Given the description of an element on the screen output the (x, y) to click on. 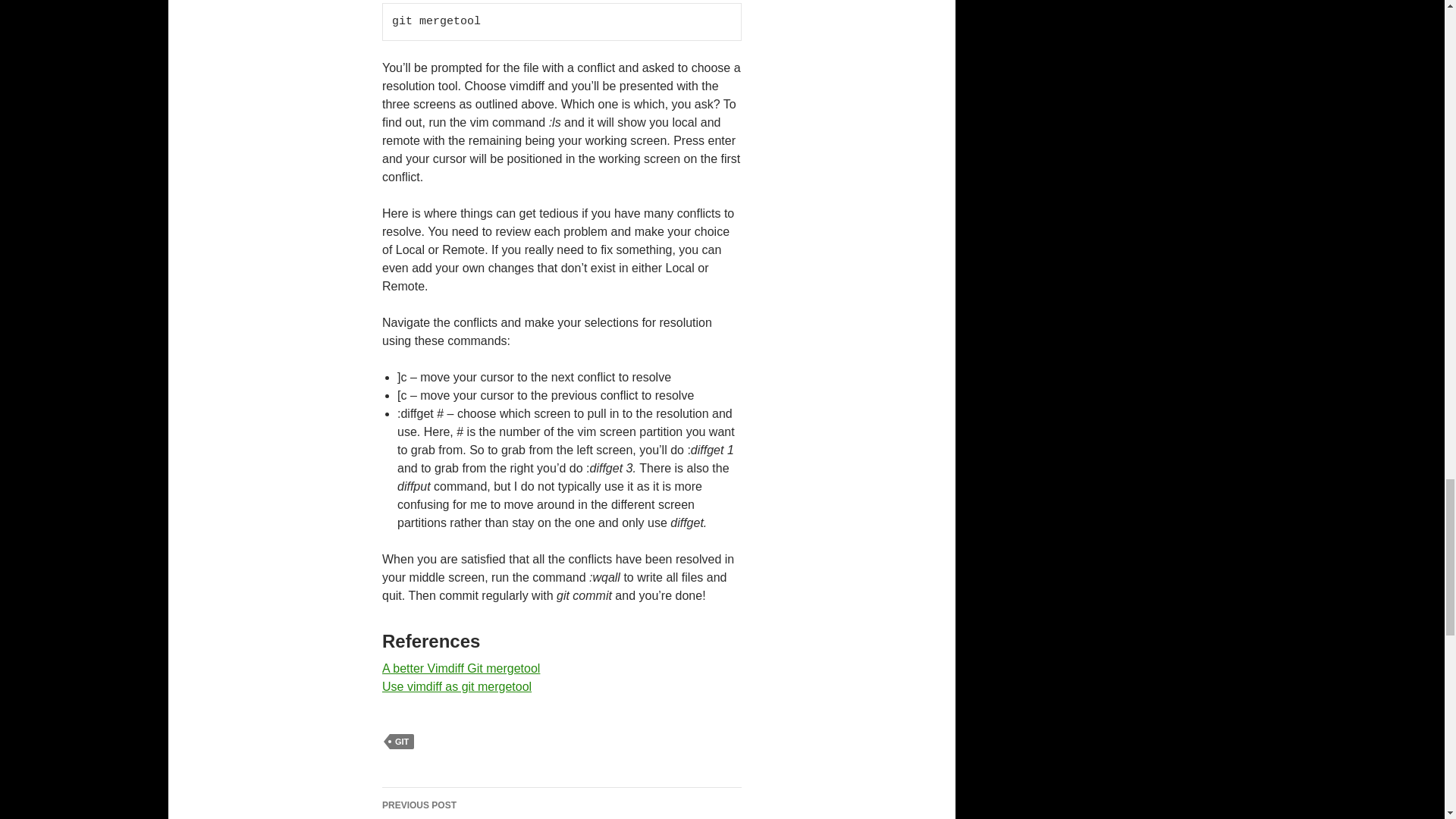
GIT (401, 741)
A better Vimdiff Git mergetool (460, 667)
Use vimdiff as git mergetool (456, 686)
